Given the description of an element on the screen output the (x, y) to click on. 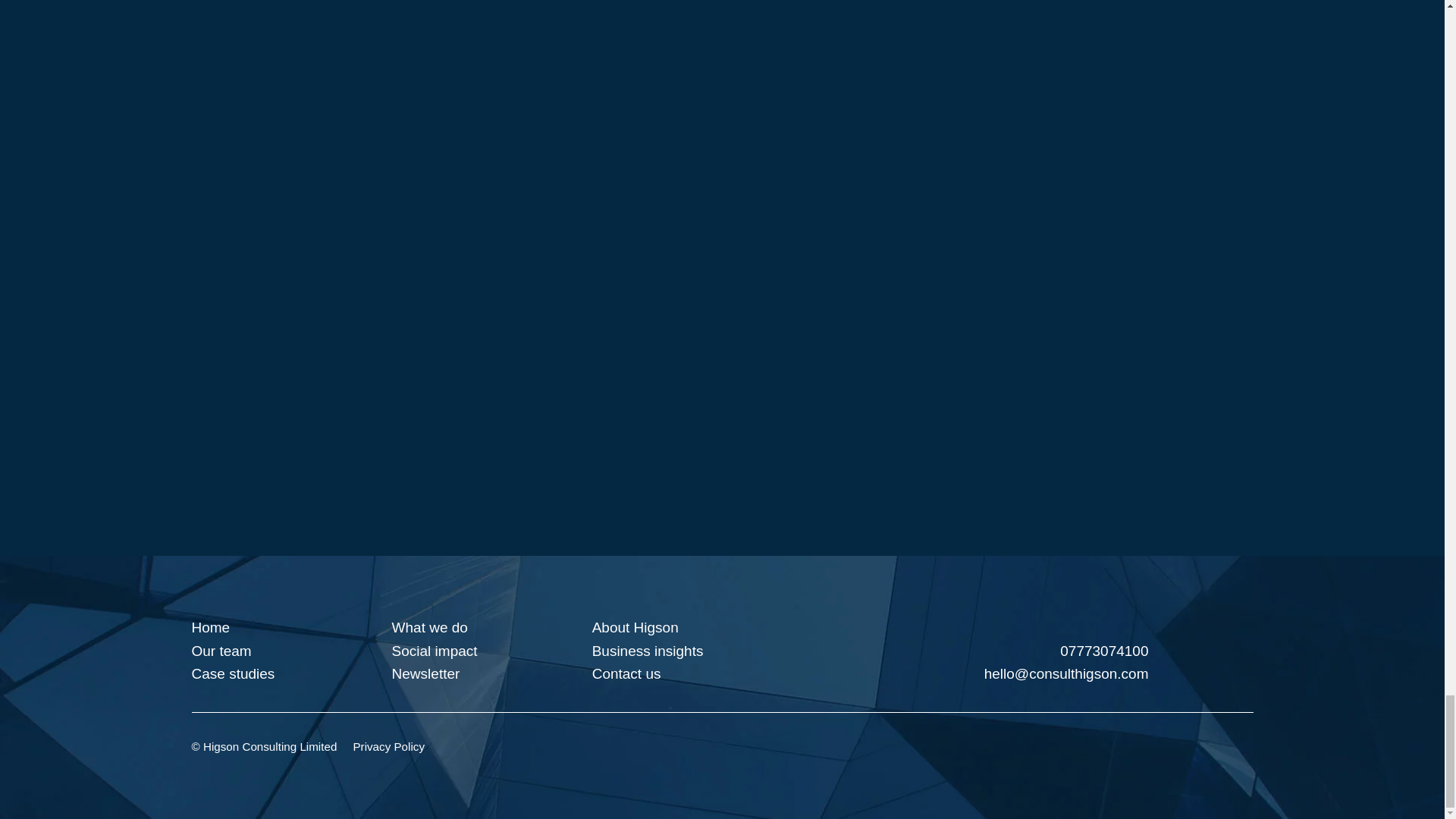
Home (210, 627)
Contact us (626, 673)
07773074100 (983, 650)
About Higson (635, 627)
Privacy Policy (388, 746)
Business insights (647, 650)
What we do (429, 627)
Case studies (232, 673)
Newsletter (425, 673)
Social impact (434, 650)
Our team (220, 650)
